Given the description of an element on the screen output the (x, y) to click on. 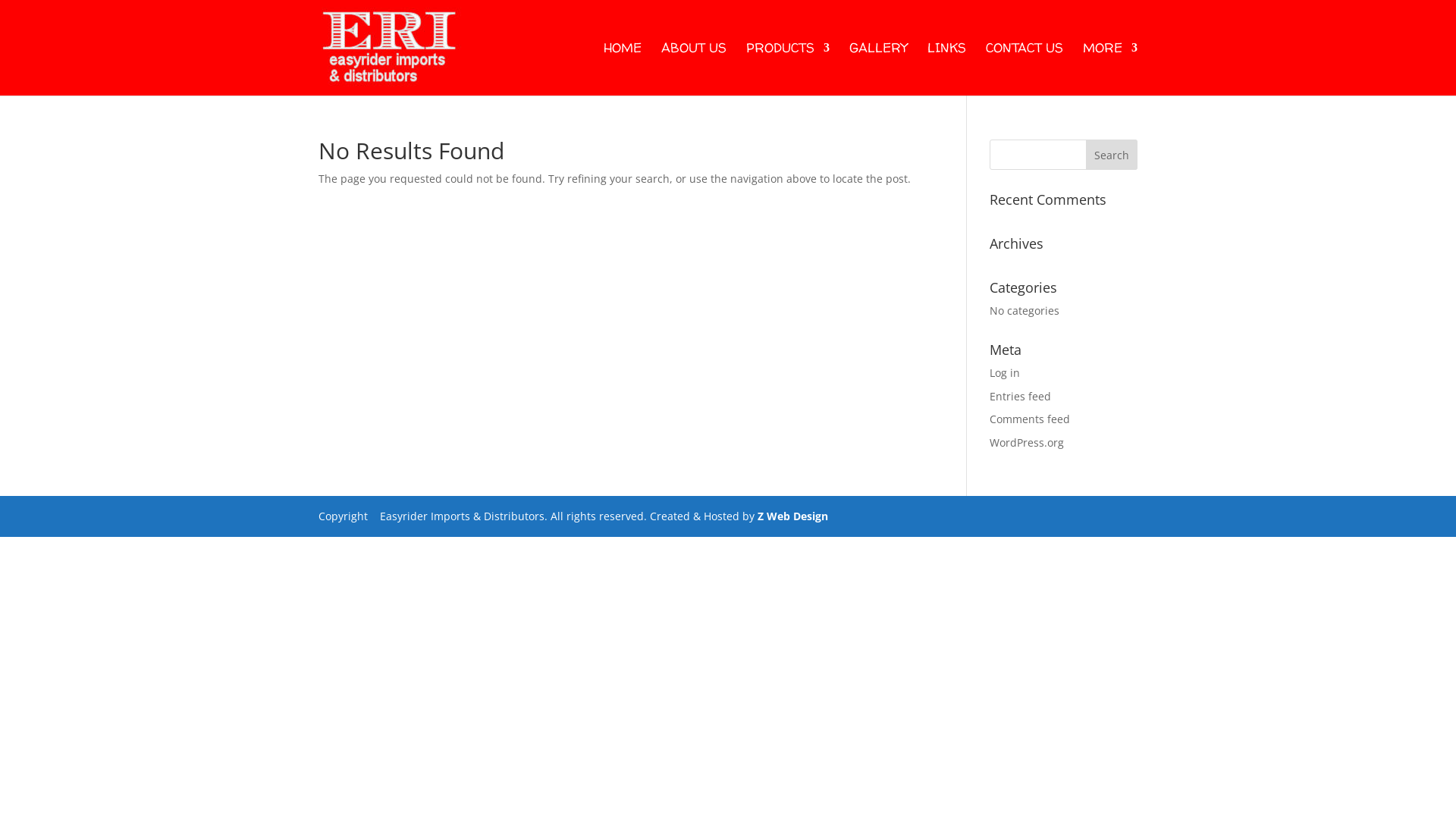
Entries feed Element type: text (1020, 396)
ABOUT US Element type: text (693, 68)
CONTACT US Element type: text (1024, 68)
Log in Element type: text (1004, 372)
GALLERY Element type: text (878, 68)
Search Element type: text (1111, 154)
Z Web Design Element type: text (792, 515)
WordPress.org Element type: text (1026, 442)
PRODUCTS Element type: text (787, 68)
LINKS Element type: text (946, 68)
HOME Element type: text (622, 68)
MORE Element type: text (1109, 68)
Comments feed Element type: text (1029, 418)
